Given the description of an element on the screen output the (x, y) to click on. 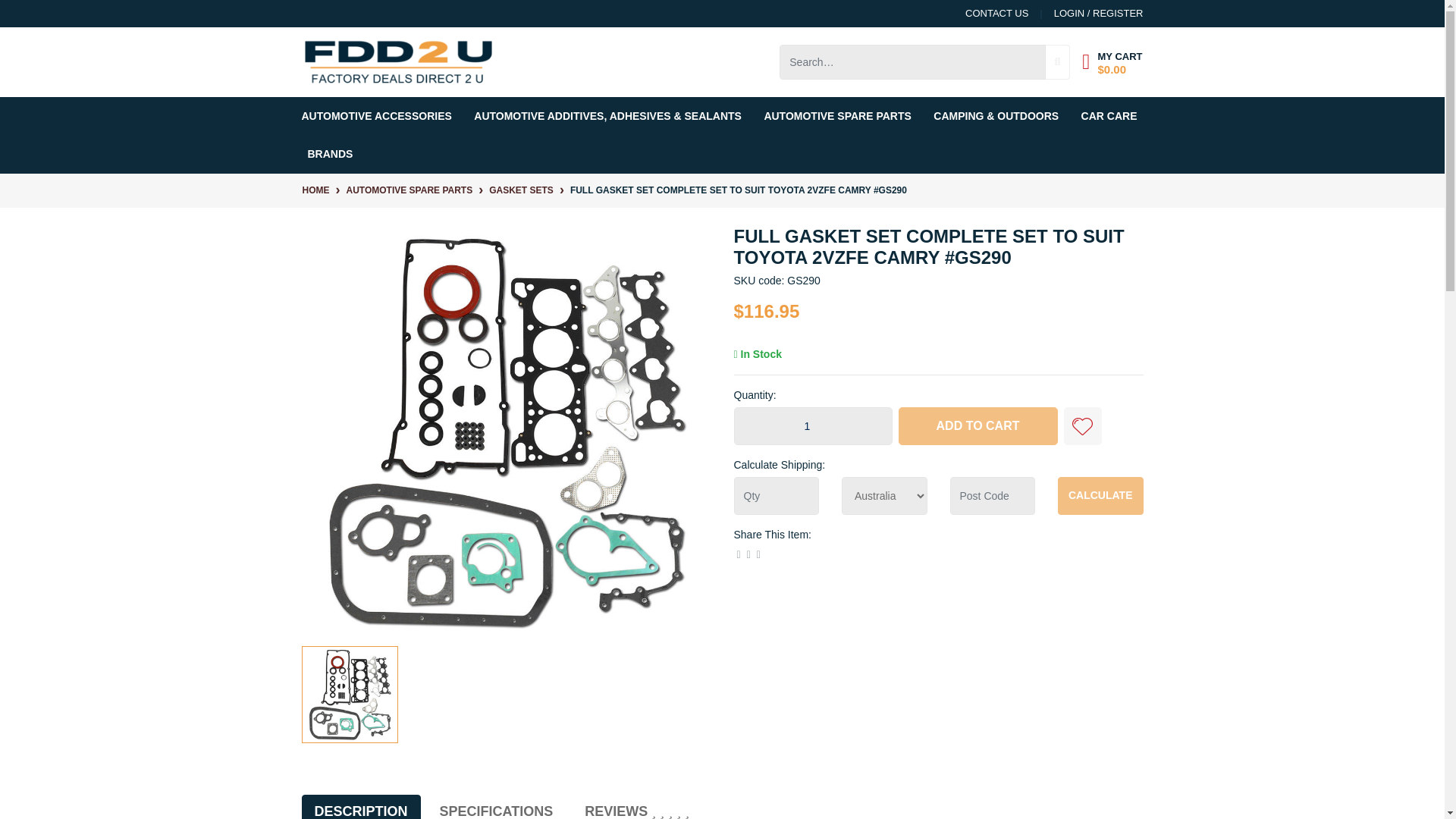
1 (812, 426)
Login (1084, 13)
AUTOMOTIVE ACCESSORIES (379, 116)
CONTACT US (996, 13)
Factory Deals Direct 2 U (398, 61)
